Given the description of an element on the screen output the (x, y) to click on. 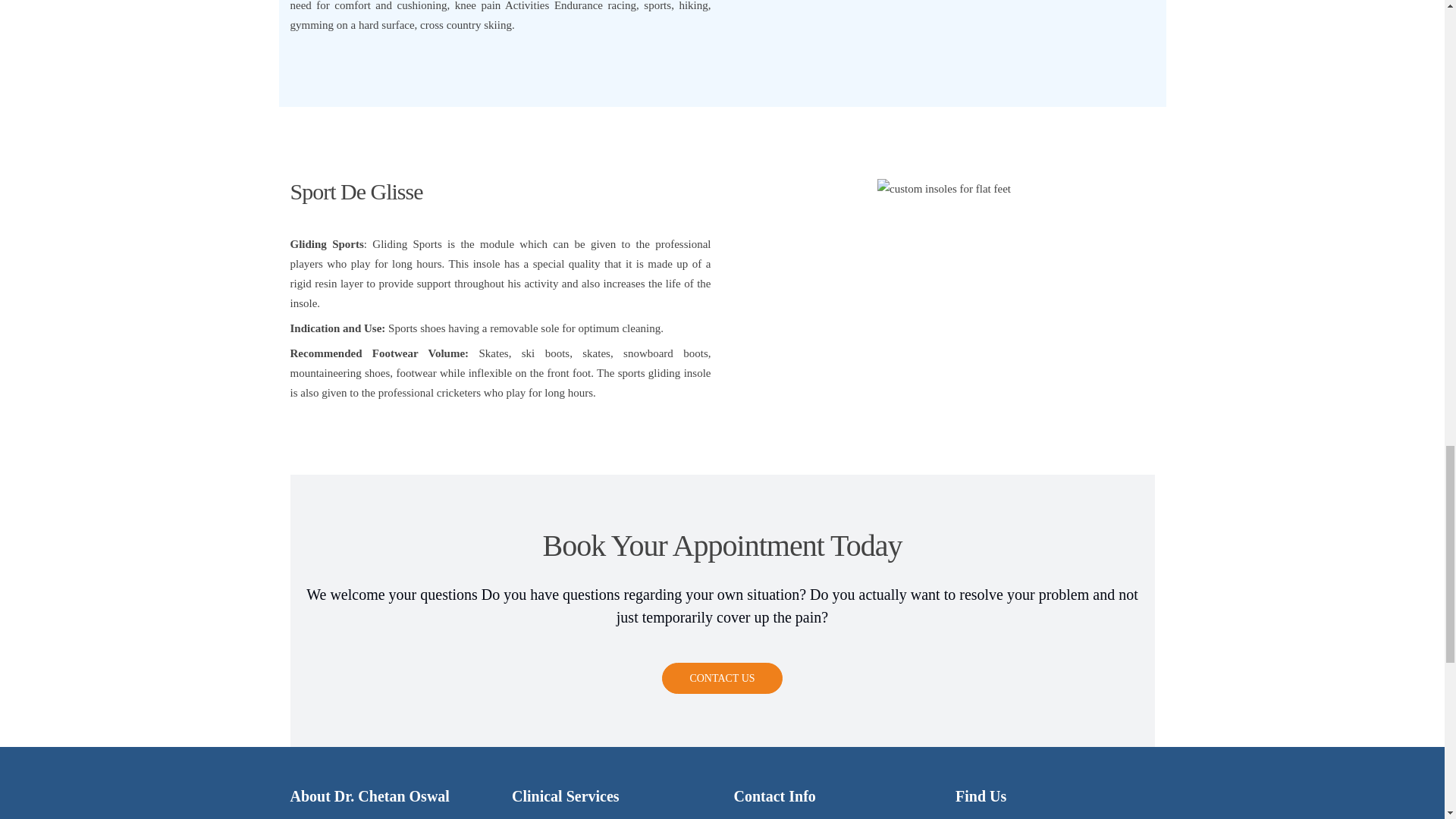
insoles (943, 189)
